Given the description of an element on the screen output the (x, y) to click on. 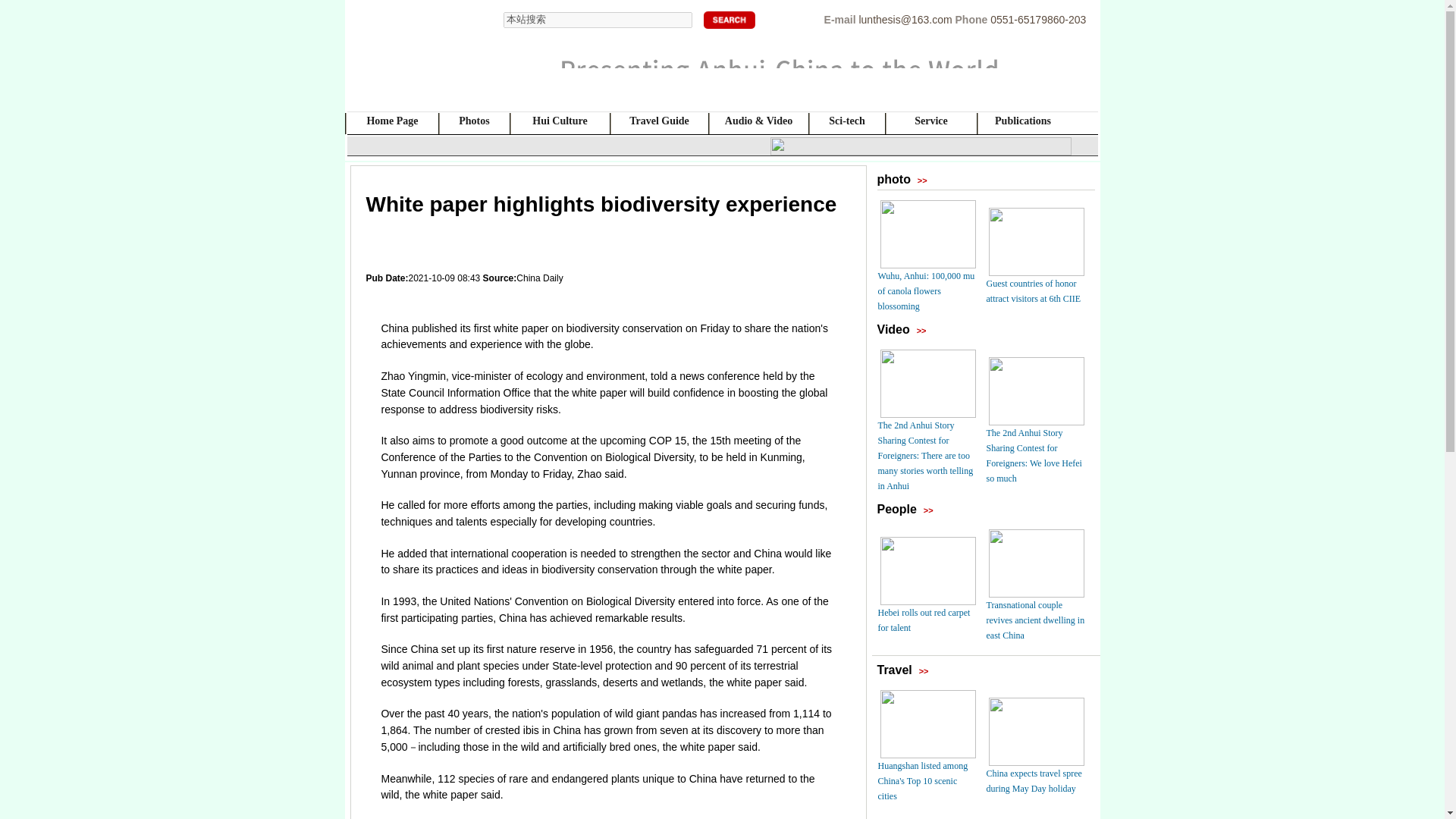
People (895, 508)
Home Page (391, 120)
Sci-tech (846, 120)
Travel Guide (658, 120)
Hui Culture (559, 120)
Travel (893, 669)
Publications (1022, 120)
Video (892, 328)
Service (930, 120)
photo (893, 178)
